Given the description of an element on the screen output the (x, y) to click on. 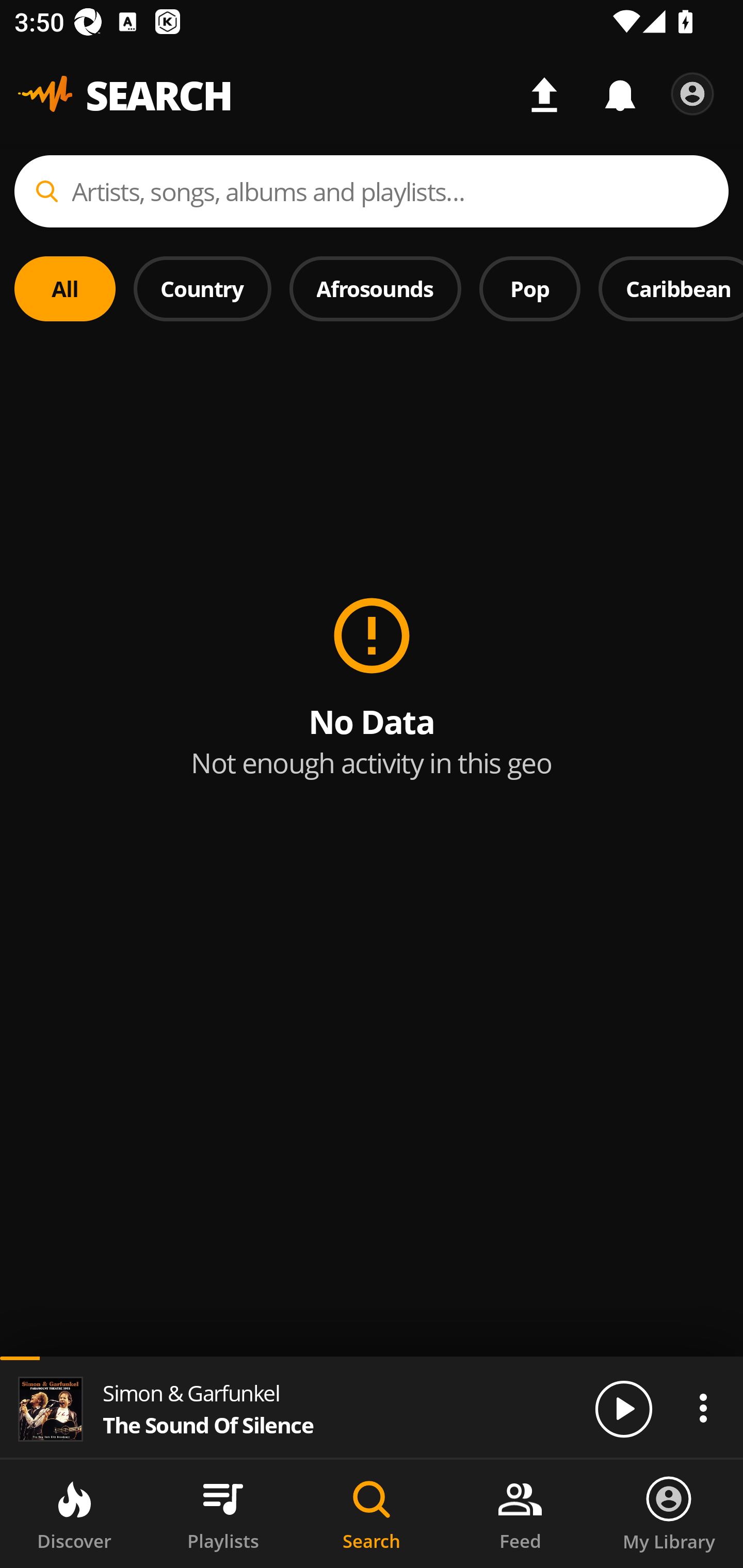
Settings (692, 94)
Artists, songs, albums and playlists… (371, 191)
All (64, 288)
Country (202, 288)
Afrosounds (375, 288)
Pop (529, 288)
Caribbean (670, 288)
Actions (703, 1407)
Play/Pause (623, 1408)
Discover (74, 1513)
Playlists (222, 1513)
Search (371, 1513)
Feed (519, 1513)
My Library (668, 1513)
